Given the description of an element on the screen output the (x, y) to click on. 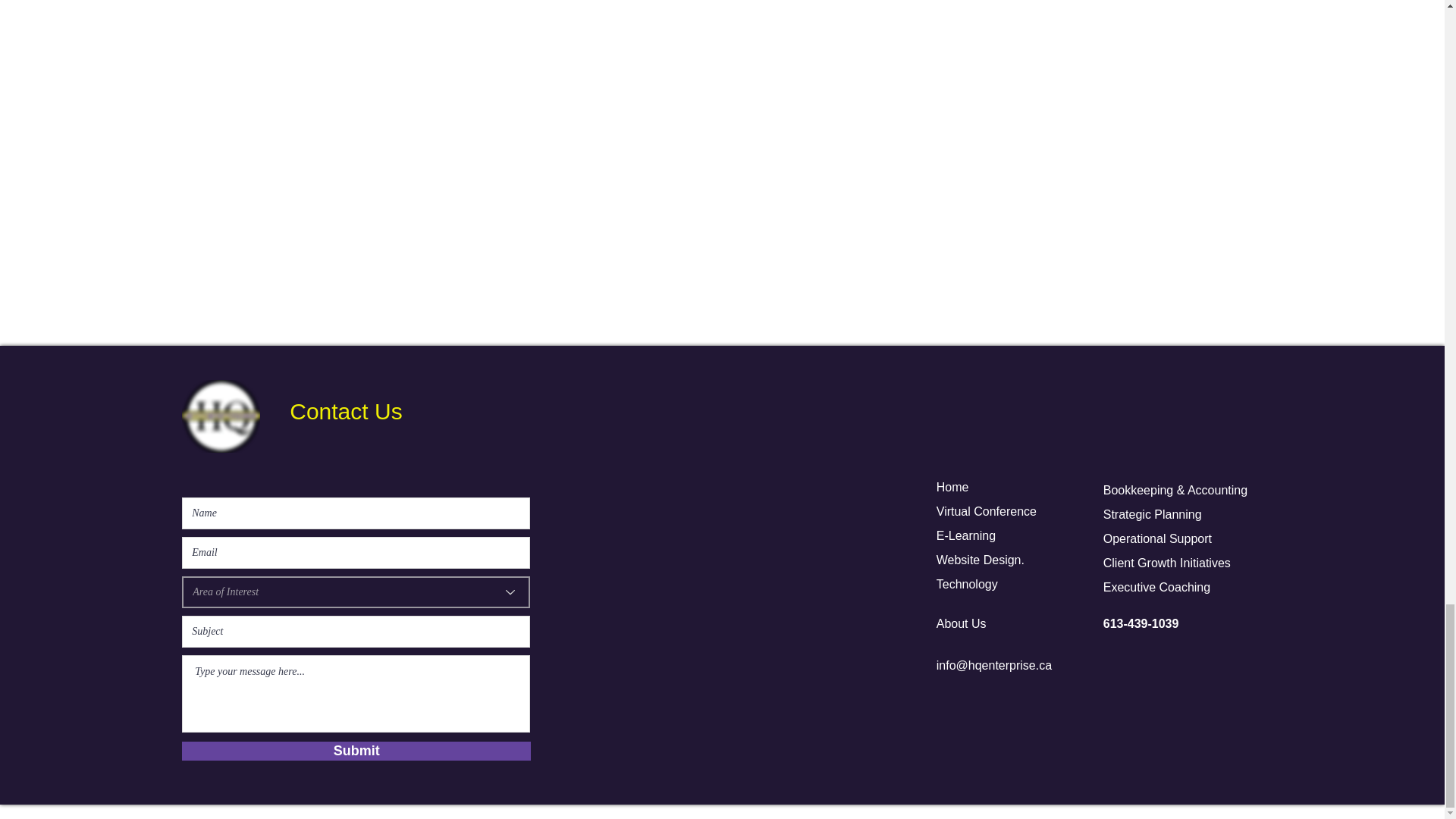
About Us (961, 623)
Home (952, 486)
Virtual Conference (986, 511)
Submit (356, 751)
Strategic Planning (1152, 513)
Operational Support (1157, 538)
Executive Coaching (1156, 586)
Technology (966, 584)
Website Design. (980, 559)
Client Growth Initiatives (1166, 562)
E-Learning (965, 535)
613-439-1039 (1141, 623)
